Given the description of an element on the screen output the (x, y) to click on. 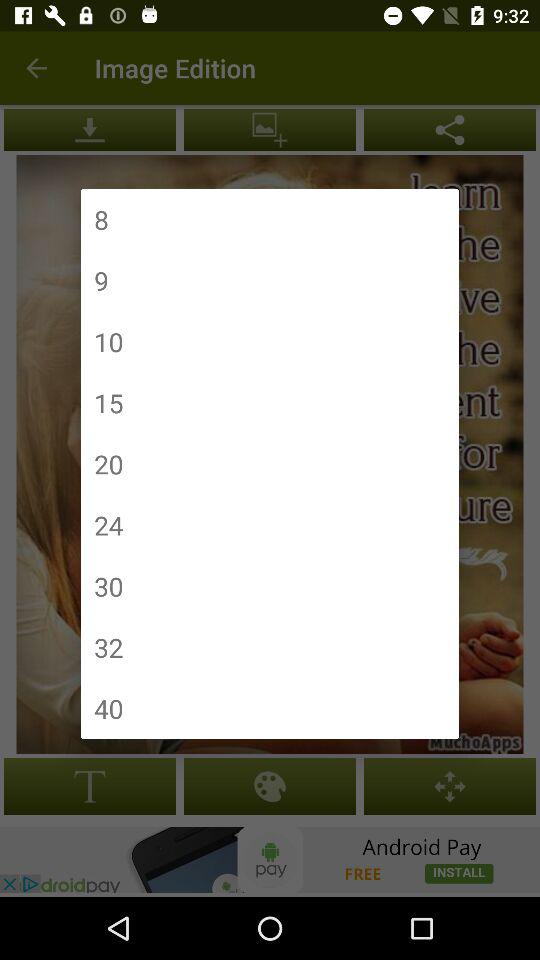
flip until 9 item (101, 280)
